Given the description of an element on the screen output the (x, y) to click on. 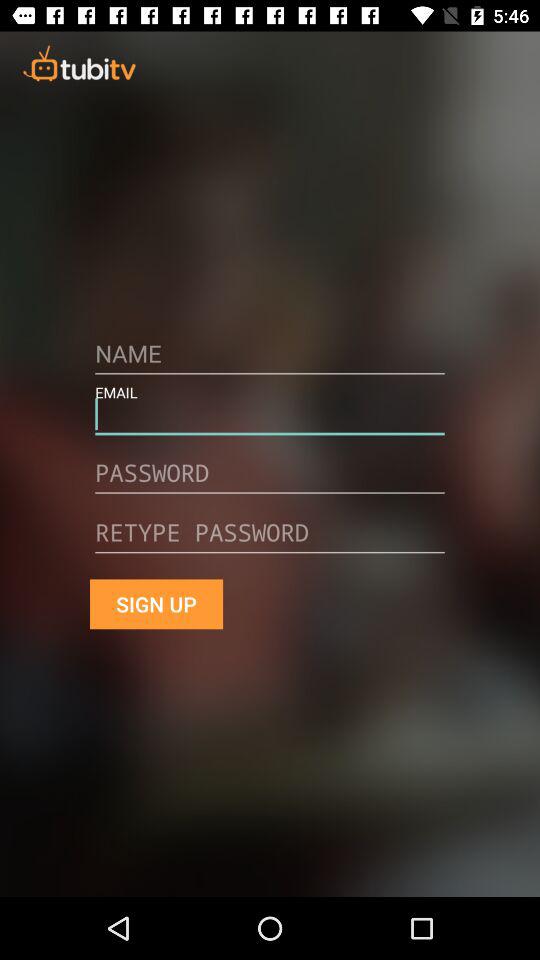
enter email (270, 421)
